Given the description of an element on the screen output the (x, y) to click on. 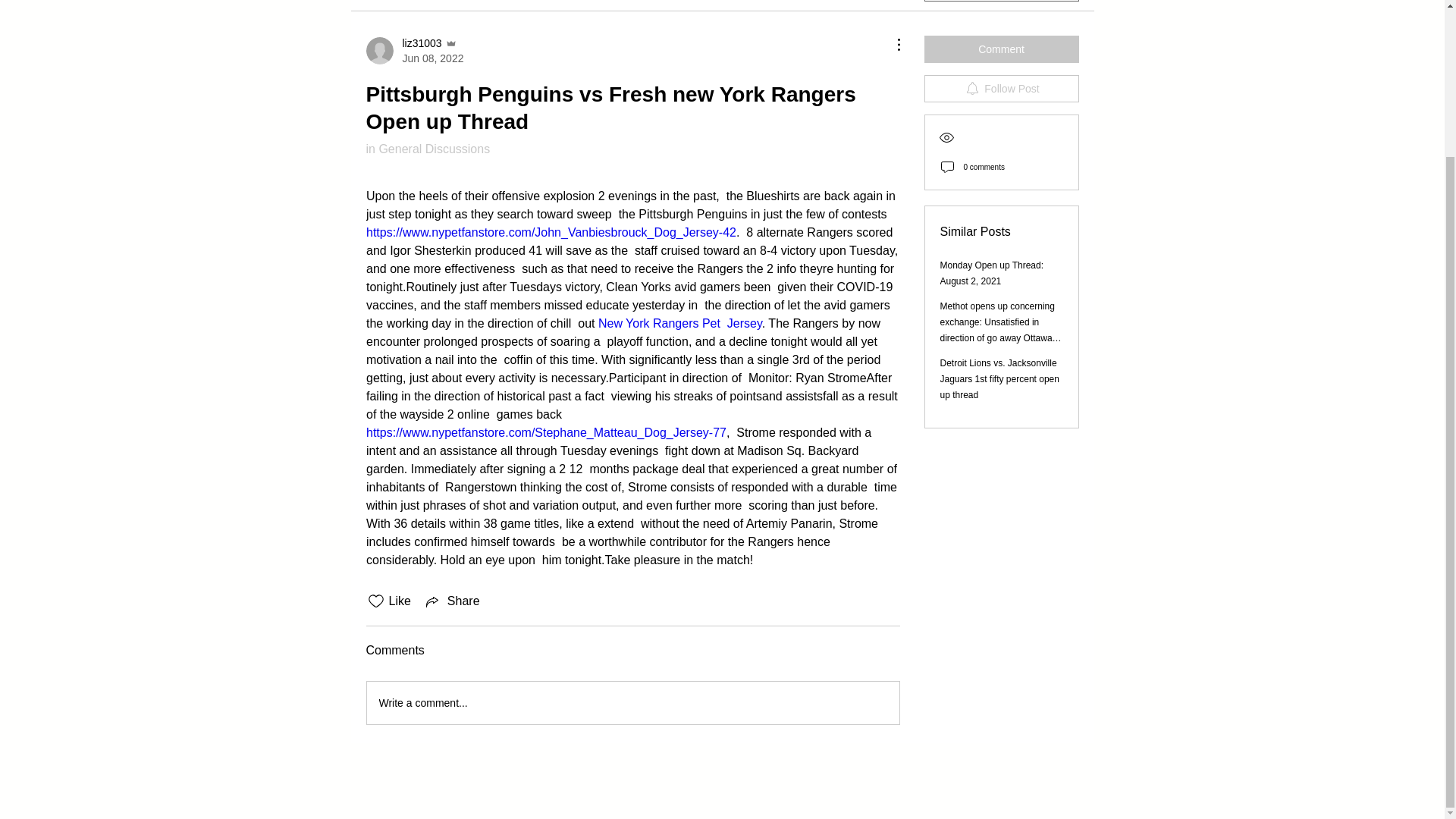
Share (451, 601)
Comment (1000, 49)
in General Discussions (427, 148)
Write a comment... (632, 702)
Follow Post (1000, 88)
New York Rangers Pet  Jersey (414, 51)
Monday Open up Thread: August 2, 2021 (678, 323)
